Given the description of an element on the screen output the (x, y) to click on. 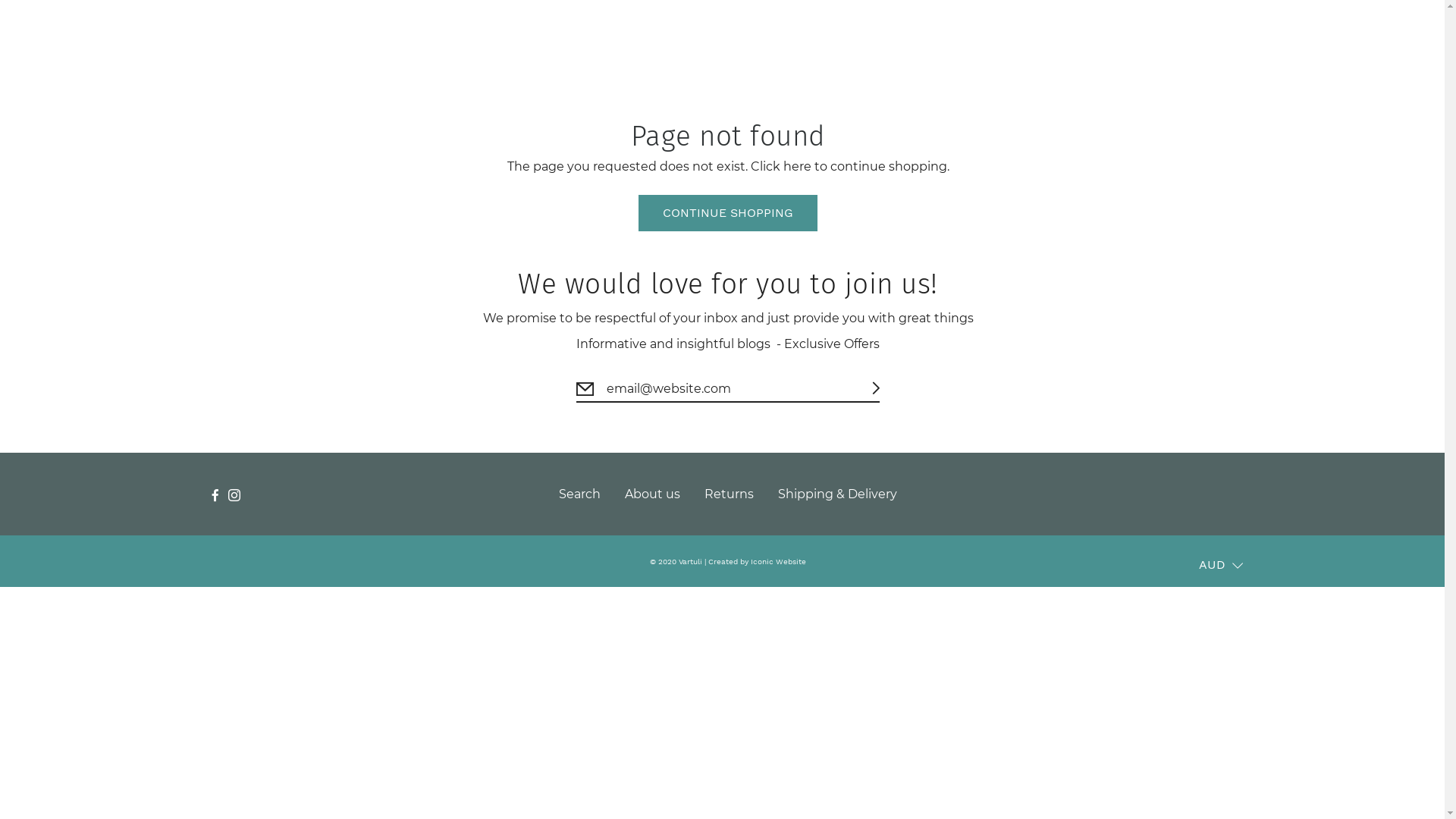
CONTINUE SHOPPING Element type: text (727, 212)
Created by Iconic Website Element type: text (757, 561)
About us Element type: text (652, 494)
Instagram Element type: text (234, 494)
Search Element type: text (579, 494)
Facebook Element type: text (215, 494)
Shipping & Delivery Element type: text (837, 494)
Returns Element type: text (728, 494)
